Given the description of an element on the screen output the (x, y) to click on. 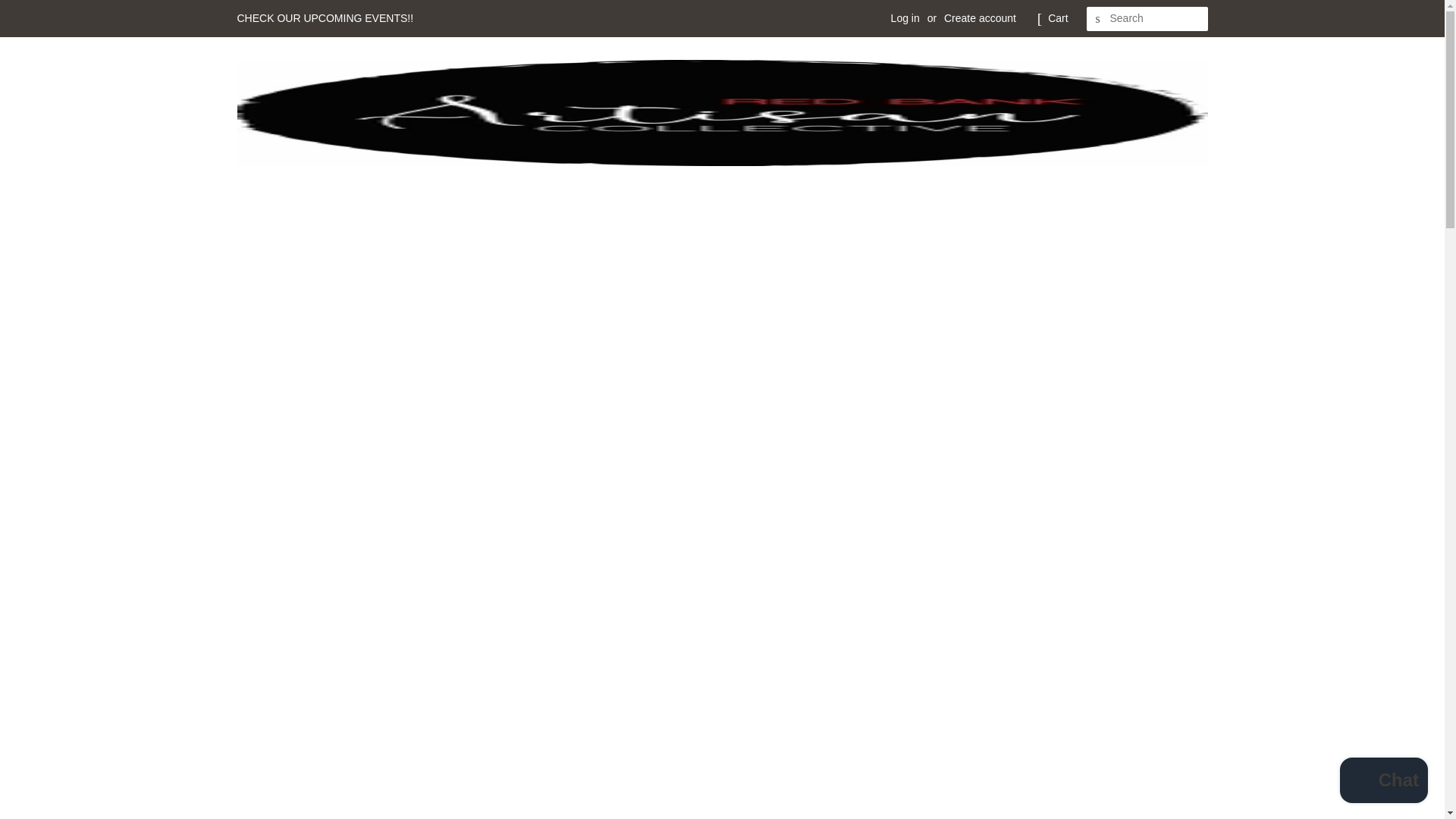
Shopify online store chat (1383, 781)
Create account (979, 18)
SEARCH (1097, 18)
CHECK OUR UPCOMING EVENTS!! (324, 18)
Log in (905, 18)
Cart (1057, 18)
